Given the description of an element on the screen output the (x, y) to click on. 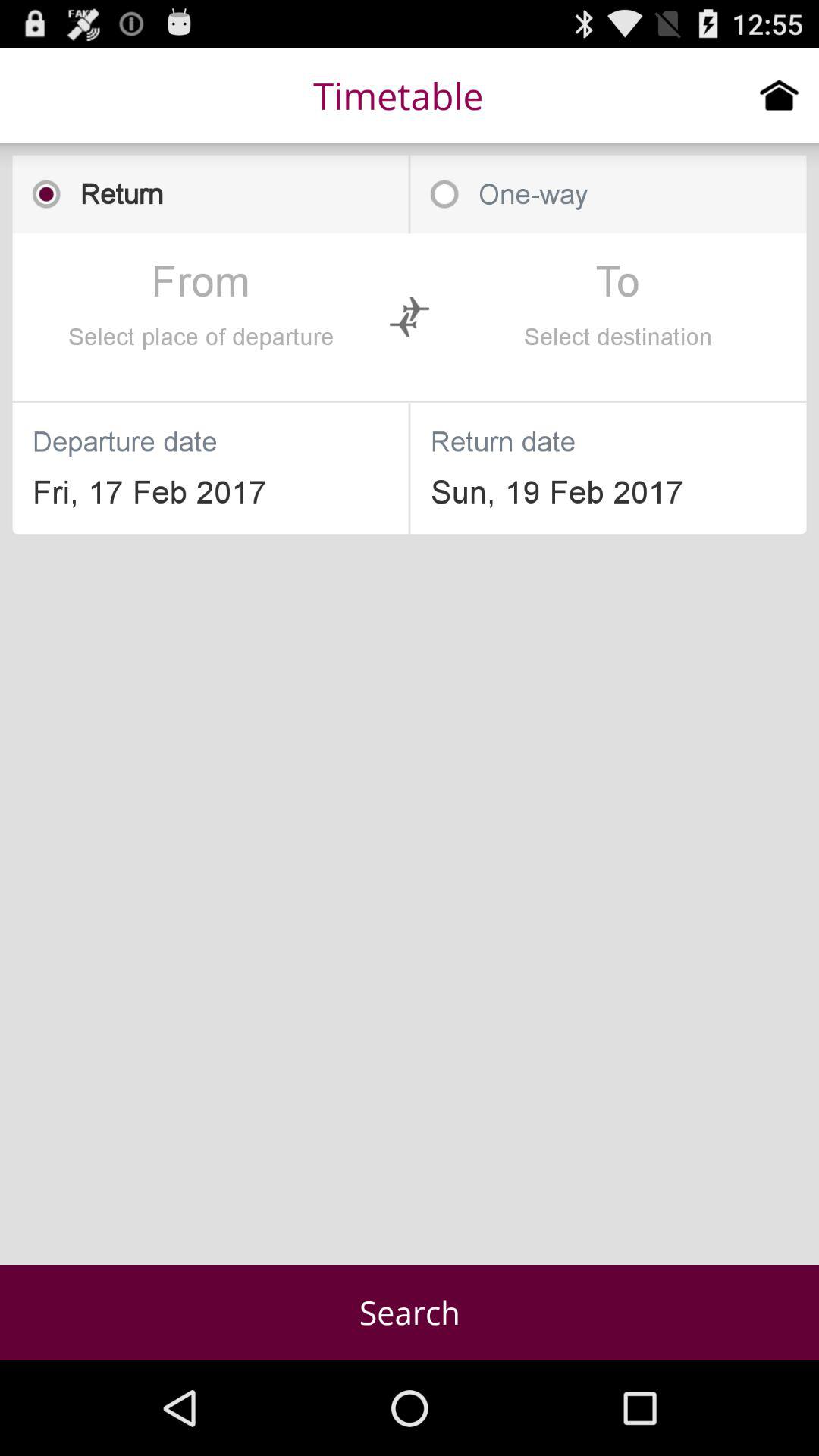
go home (779, 95)
